Given the description of an element on the screen output the (x, y) to click on. 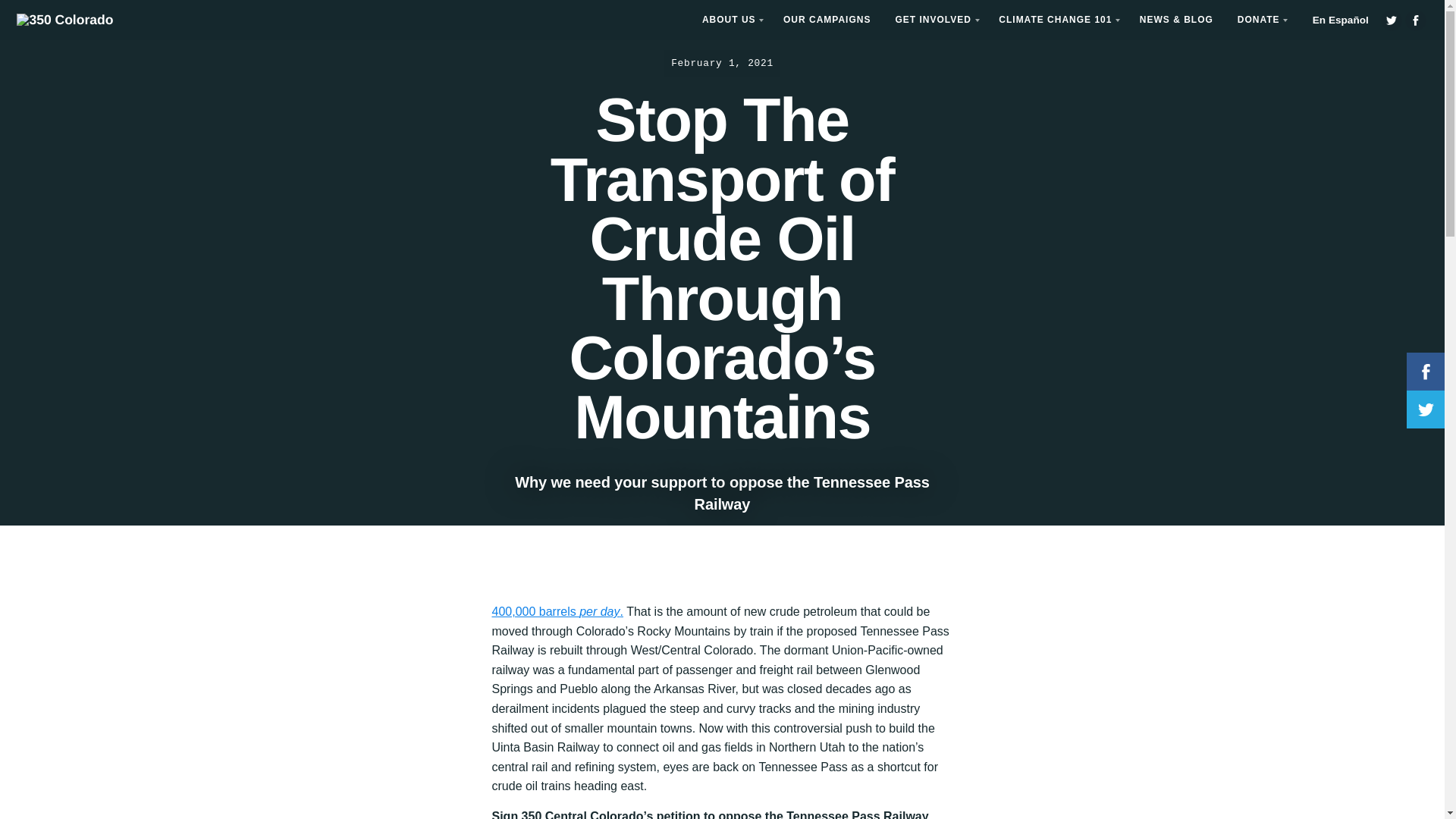
DONATE (1260, 20)
400,000 barrels per day. (557, 611)
CLIMATE CHANGE 101 (1056, 20)
ABOUT US (730, 20)
GET INVOLVED (934, 20)
Twitter (1391, 20)
OUR CAMPAIGNS (826, 20)
Facebook (1415, 20)
